Given the description of an element on the screen output the (x, y) to click on. 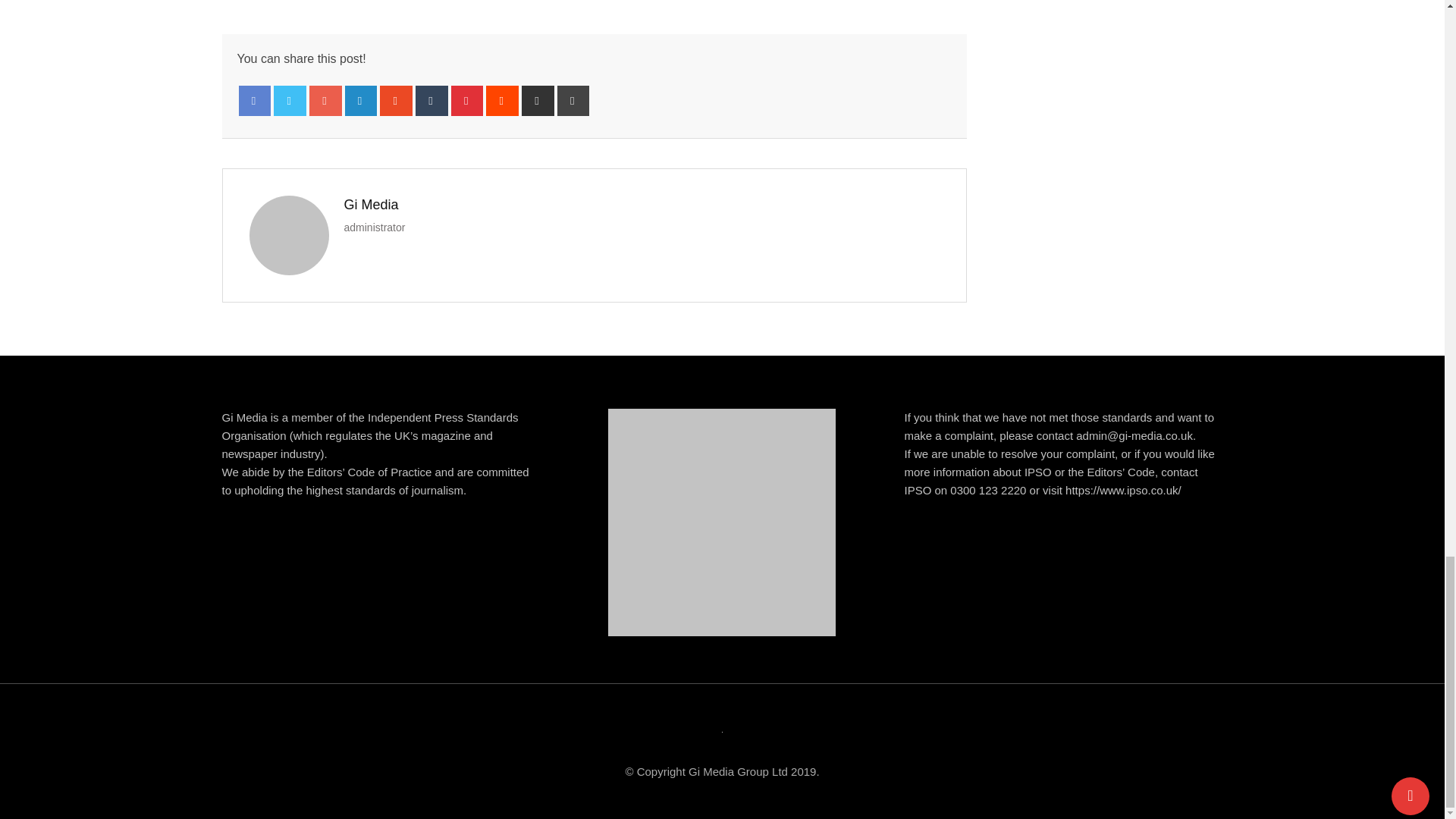
Posts by Gi Media (370, 204)
